Given the description of an element on the screen output the (x, y) to click on. 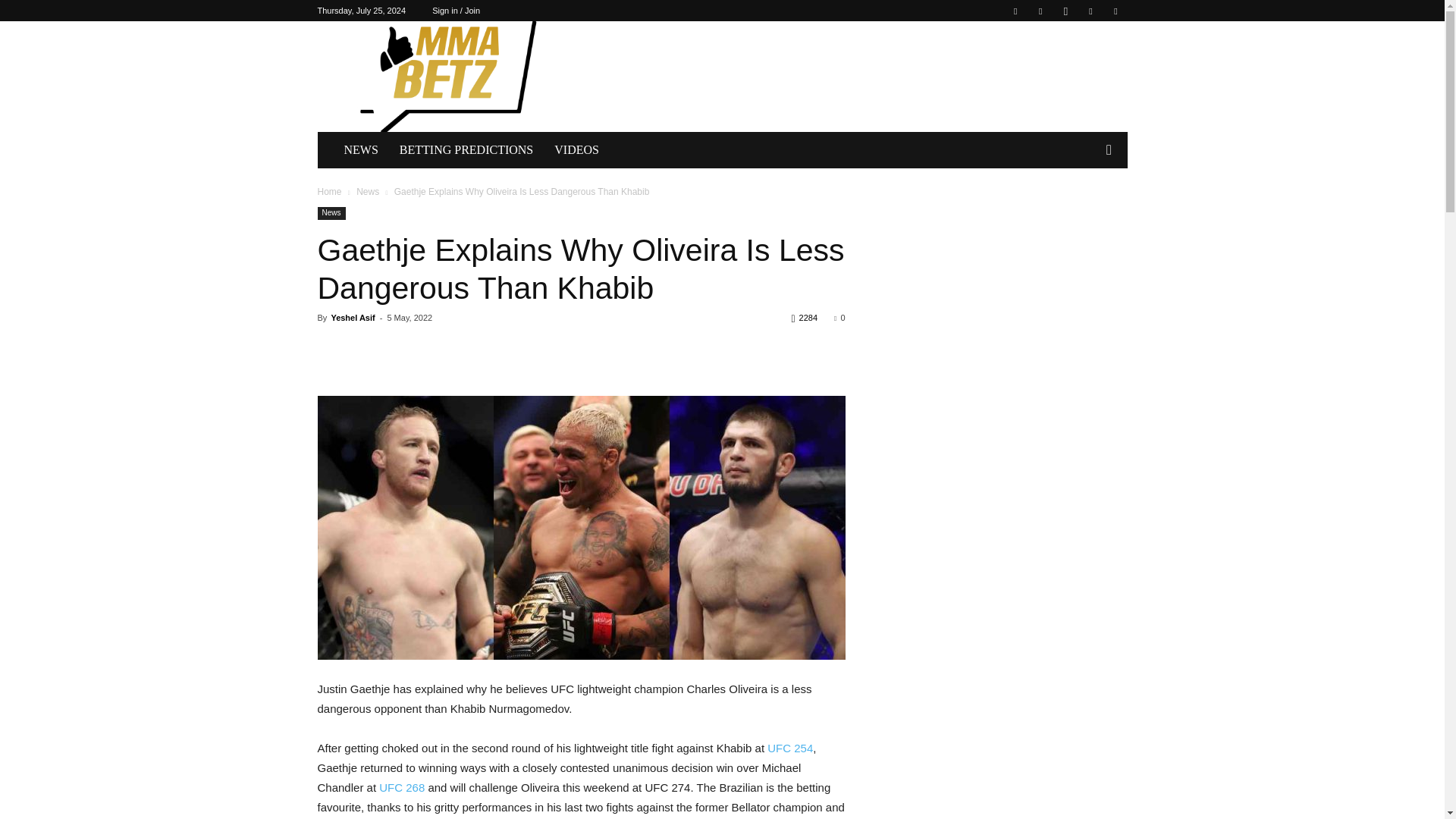
View all posts in News (367, 191)
Youtube (1114, 10)
Instagram (1065, 10)
Facebook (1015, 10)
NEWS (360, 149)
Twitter (1090, 10)
